Given the description of an element on the screen output the (x, y) to click on. 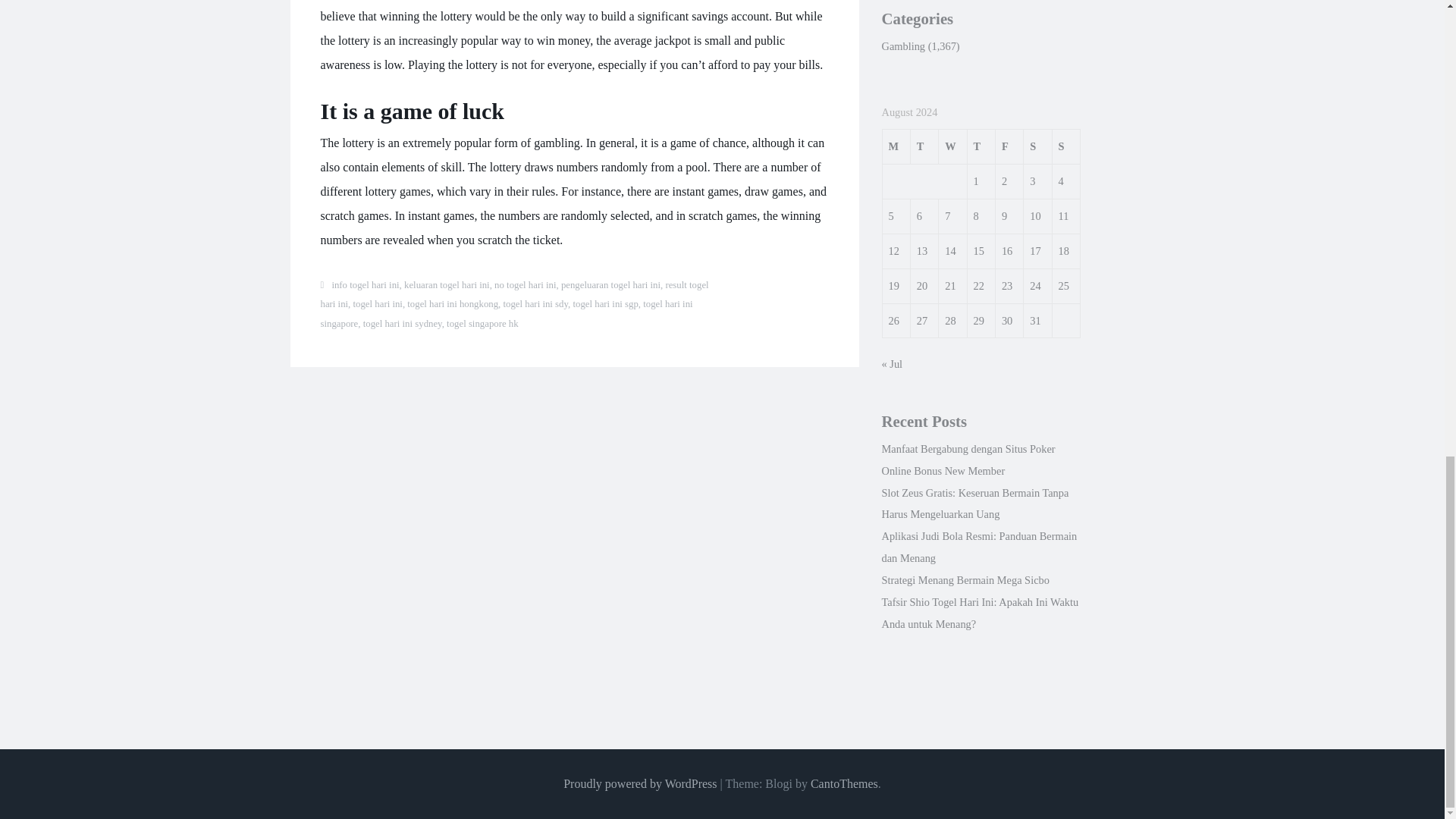
togel hari ini (378, 303)
togel hari ini sydney (402, 323)
togel hari ini sdy (536, 303)
pengeluaran togel hari ini (610, 285)
togel hari ini sgp (604, 303)
togel singapore hk (482, 323)
info togel hari ini (364, 285)
togel hari ini hongkong (452, 303)
result togel hari ini (513, 295)
no togel hari ini (525, 285)
